Given the description of an element on the screen output the (x, y) to click on. 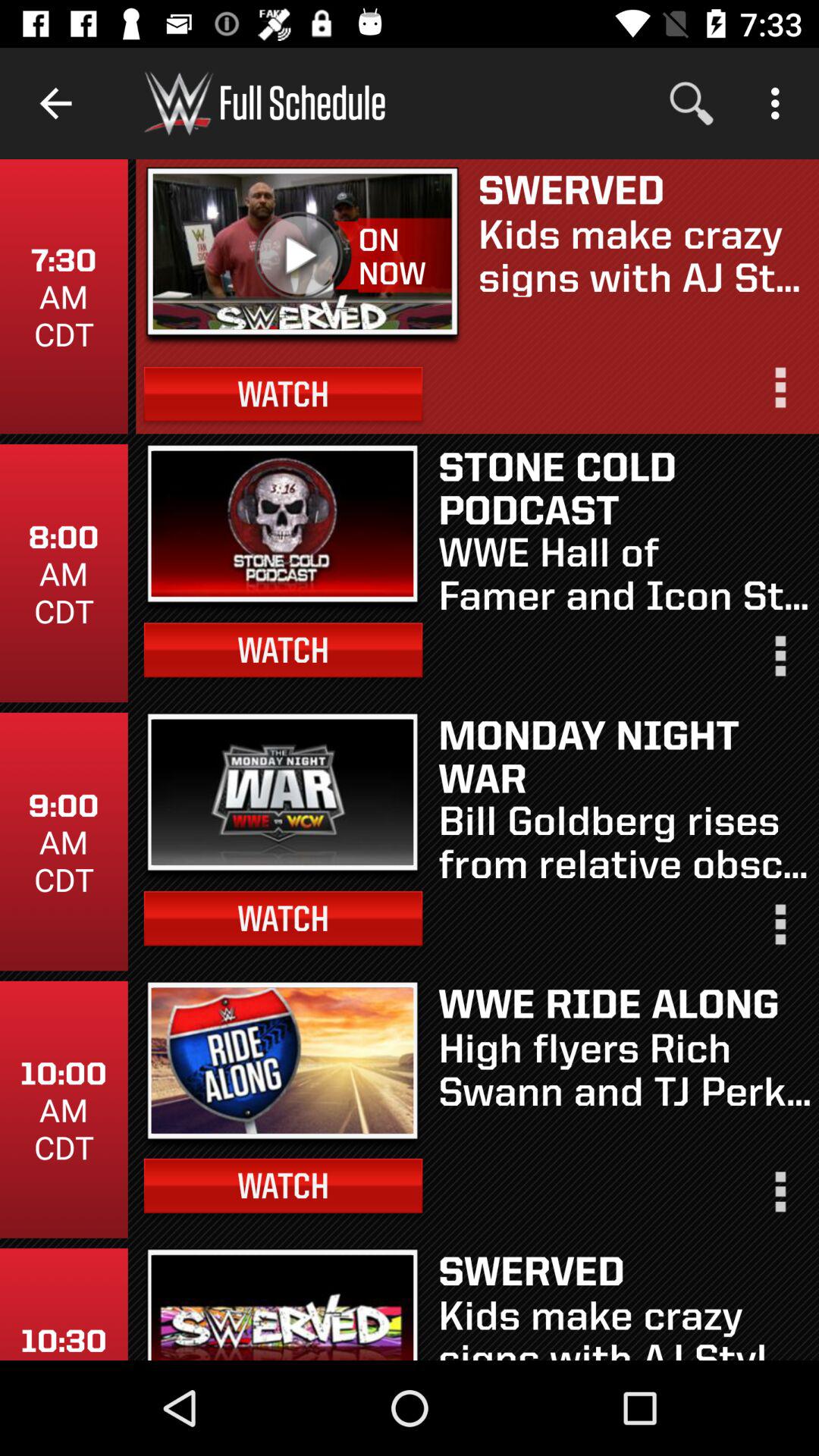
more options (779, 1198)
